Given the description of an element on the screen output the (x, y) to click on. 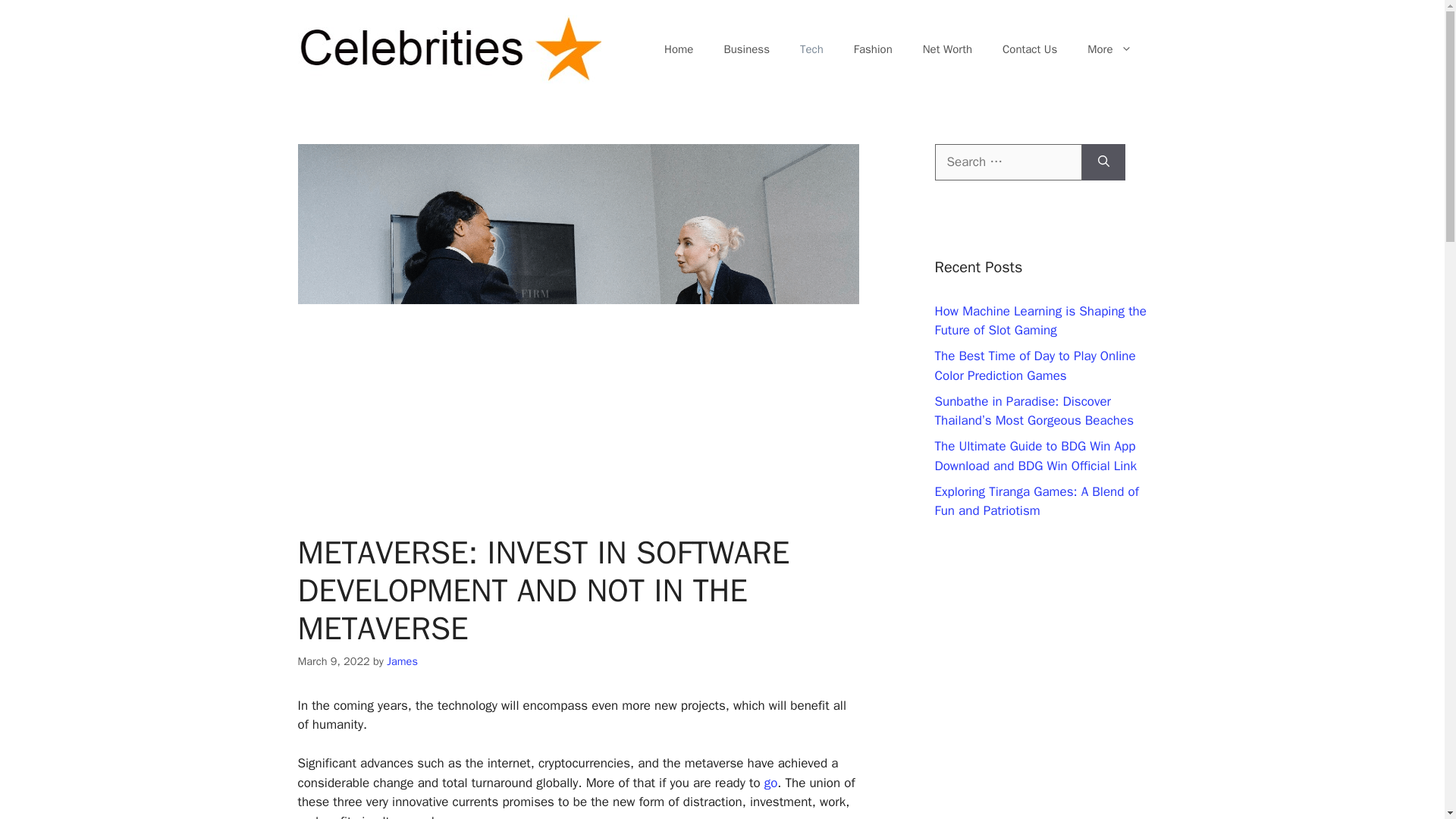
Contact Us (1029, 49)
James (402, 661)
Net Worth (947, 49)
How Machine Learning is Shaping the Future of Slot Gaming (1039, 321)
Search for: (1007, 162)
View all posts by James (402, 661)
Fashion (872, 49)
More (1109, 49)
Exploring Tiranga Games: A Blend of Fun and Patriotism (1036, 501)
